Given the description of an element on the screen output the (x, y) to click on. 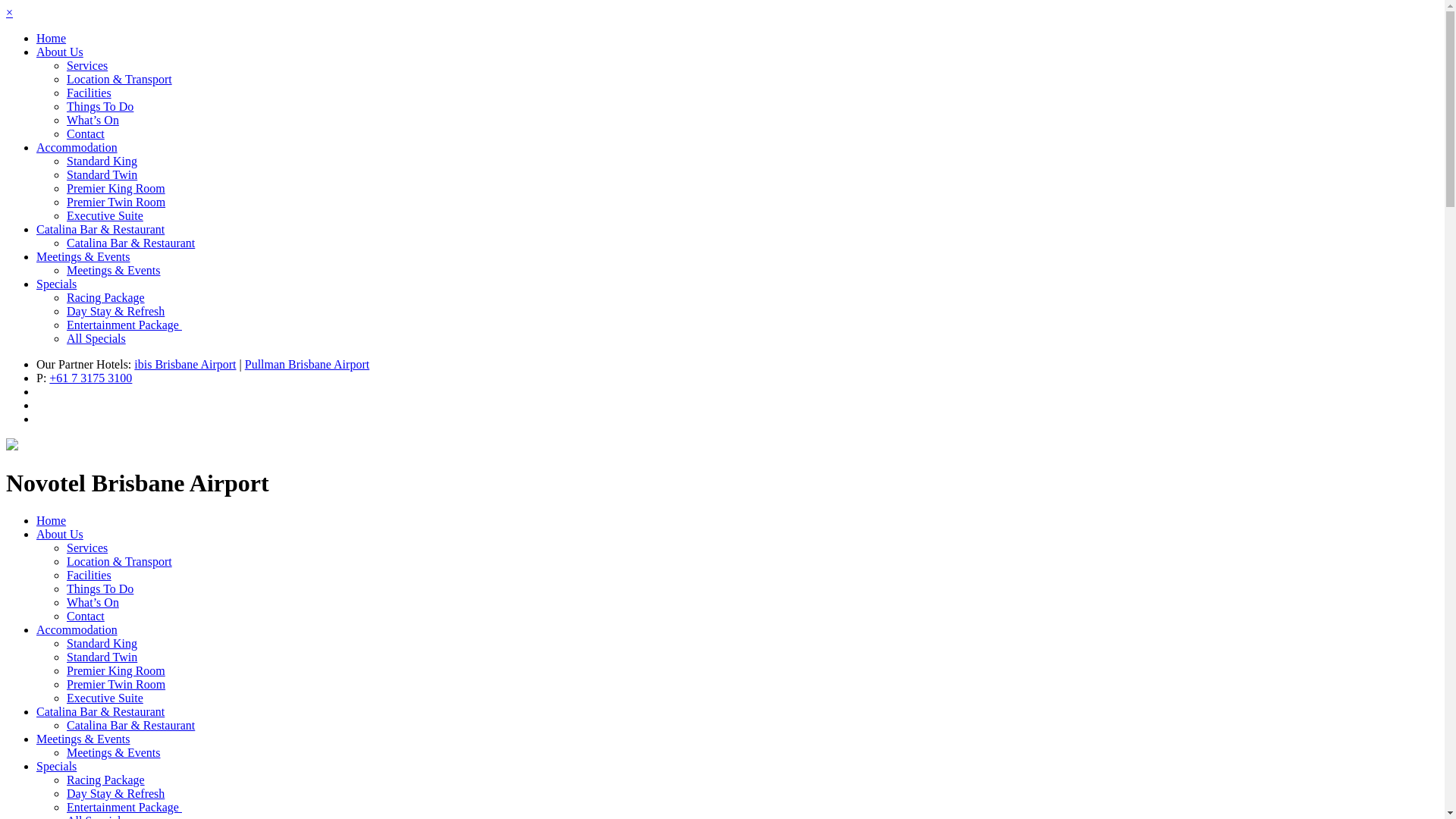
Premier Twin Room Element type: text (115, 683)
Day Stay & Refresh Element type: text (115, 793)
Day Stay & Refresh Element type: text (115, 310)
Entertainment Package  Element type: text (124, 806)
Specials Element type: text (56, 283)
+61 7 3175 3100 Element type: text (90, 377)
Catalina Bar & Restaurant Element type: text (130, 242)
Meetings & Events Element type: text (113, 269)
Executive Suite Element type: text (104, 697)
Home Element type: text (50, 520)
Standard King Element type: text (101, 160)
Meetings & Events Element type: text (113, 752)
Entertainment Package  Element type: text (124, 324)
Premier King Room Element type: text (115, 188)
Premier Twin Room Element type: text (115, 201)
Catalina Bar & Restaurant Element type: text (100, 228)
ibis Brisbane Airport Element type: text (184, 363)
Racing Package Element type: text (105, 297)
About Us Element type: text (59, 51)
Home Element type: text (50, 37)
Location & Transport Element type: text (119, 78)
Standard King Element type: text (101, 643)
Executive Suite Element type: text (104, 215)
Premier King Room Element type: text (115, 670)
Services Element type: text (86, 547)
Pullman Brisbane Airport Element type: text (306, 363)
Things To Do Element type: text (99, 106)
Services Element type: text (86, 65)
Standard Twin Element type: text (101, 656)
Accommodation Element type: text (76, 629)
Contact Element type: text (85, 133)
All Specials Element type: text (95, 338)
Facilities Element type: text (88, 92)
Accommodation Element type: text (76, 147)
Racing Package Element type: text (105, 779)
Meetings & Events Element type: text (83, 738)
Location & Transport Element type: text (119, 561)
Catalina Bar & Restaurant Element type: text (130, 724)
Standard Twin Element type: text (101, 174)
Things To Do Element type: text (99, 588)
Contact Element type: text (85, 615)
Meetings & Events Element type: text (83, 256)
Catalina Bar & Restaurant Element type: text (100, 711)
Facilities Element type: text (88, 574)
About Us Element type: text (59, 533)
Specials Element type: text (56, 765)
